Given the description of an element on the screen output the (x, y) to click on. 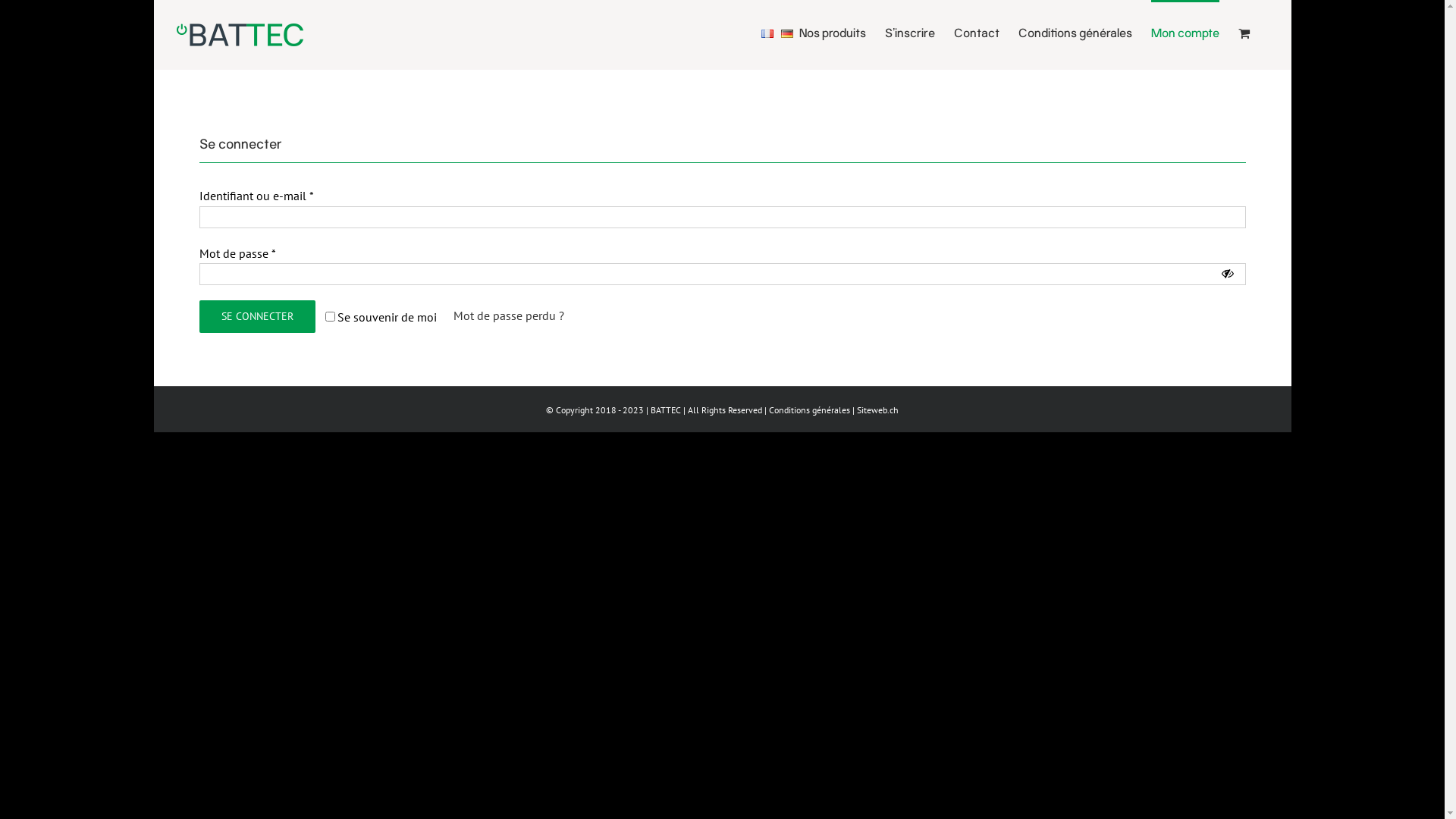
Siteweb.ch Element type: text (877, 409)
Deutsch Element type: hover (786, 33)
Mot de passe perdu ? Element type: text (508, 315)
Contact Element type: text (976, 31)
Nos produits Element type: text (832, 31)
Mon compte Element type: text (1185, 31)
SE CONNECTER Element type: text (256, 316)
